Given the description of an element on the screen output the (x, y) to click on. 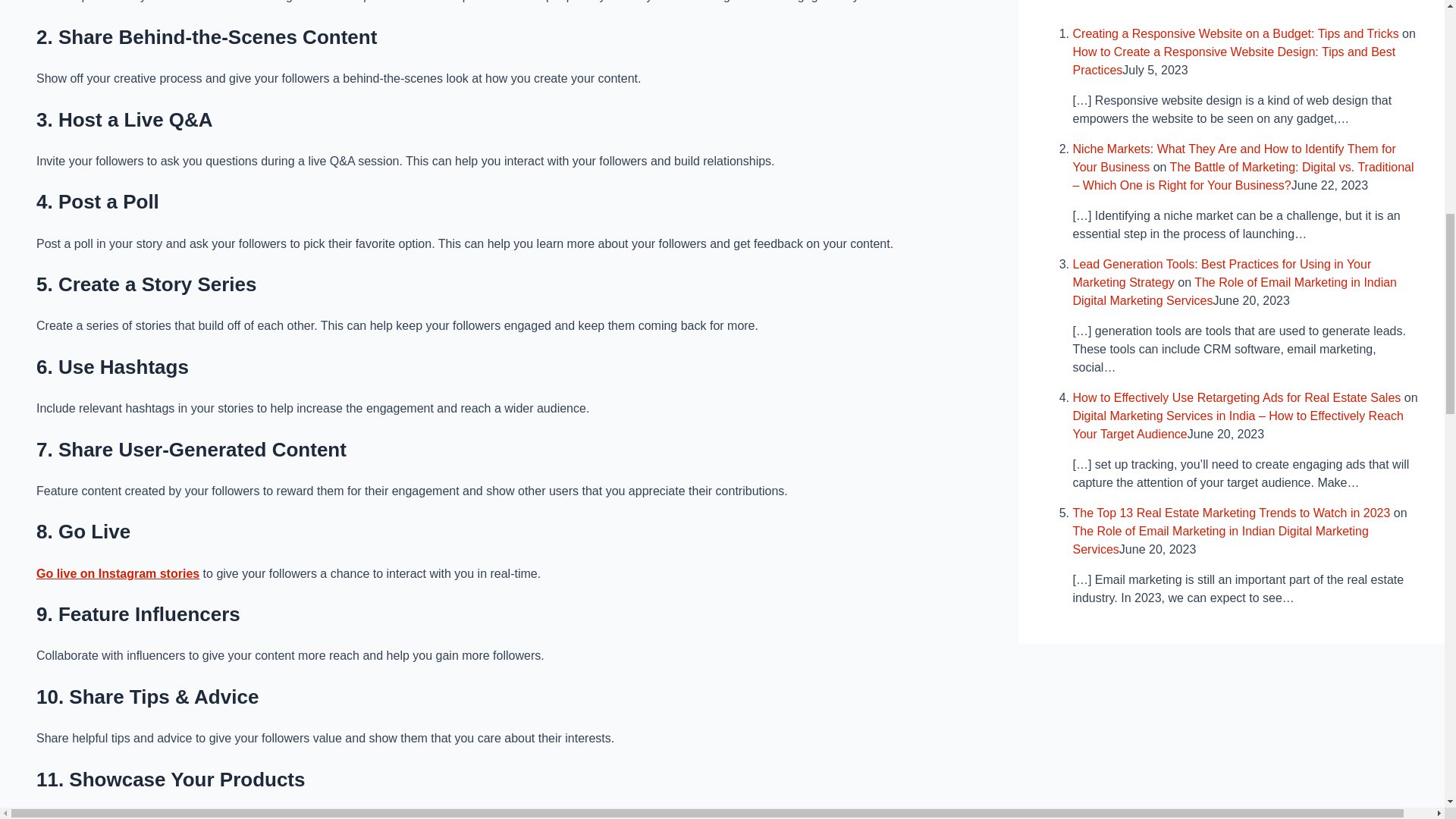
Go live on Instagram stories (117, 573)
